Given the description of an element on the screen output the (x, y) to click on. 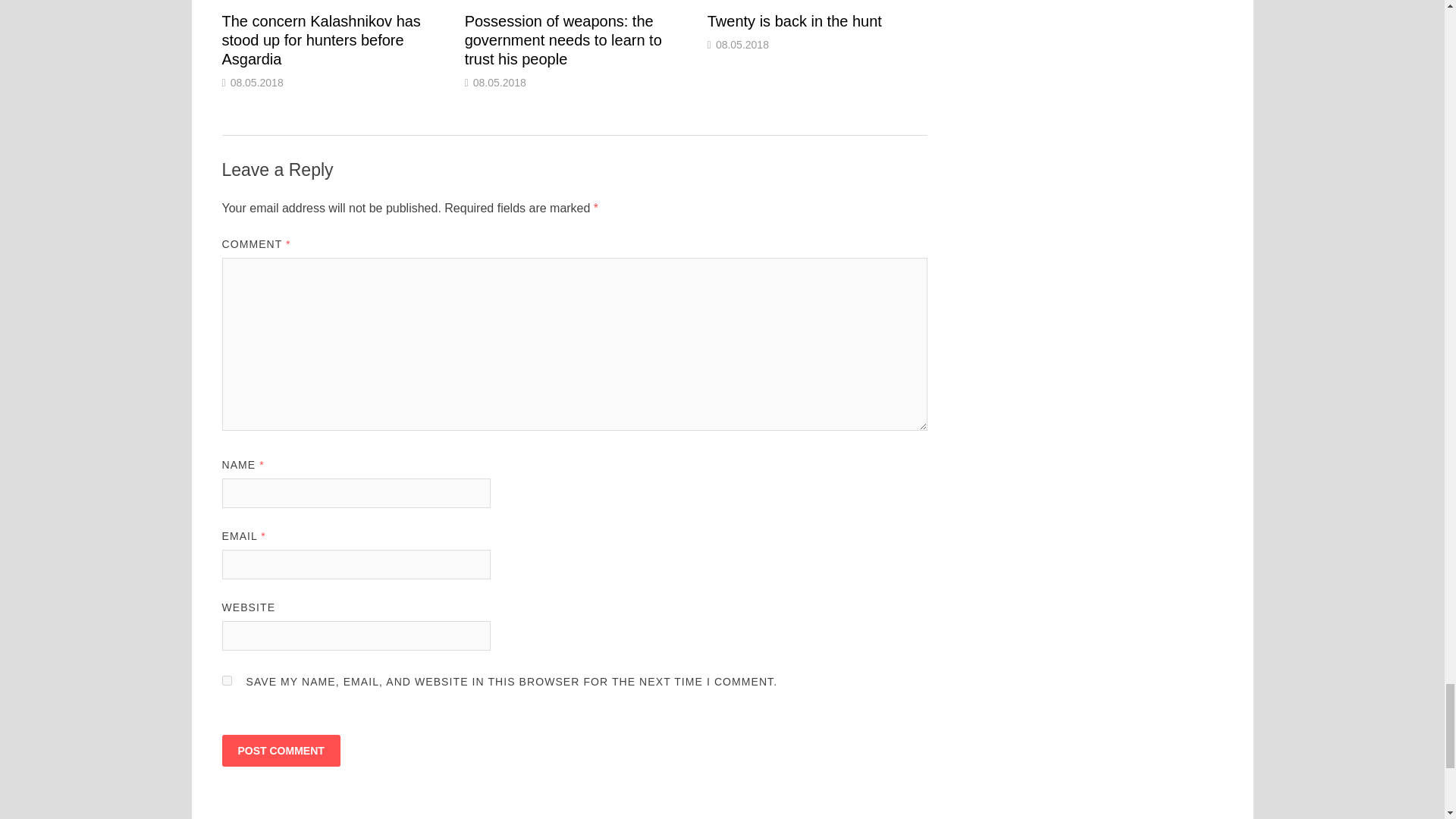
08.05.2018 (742, 44)
Twenty is back in the hunt (794, 21)
Post Comment (280, 750)
08.05.2018 (256, 82)
yes (226, 680)
Post Comment (280, 750)
Twenty is back in the hunt (794, 21)
08.05.2018 (499, 82)
